Given the description of an element on the screen output the (x, y) to click on. 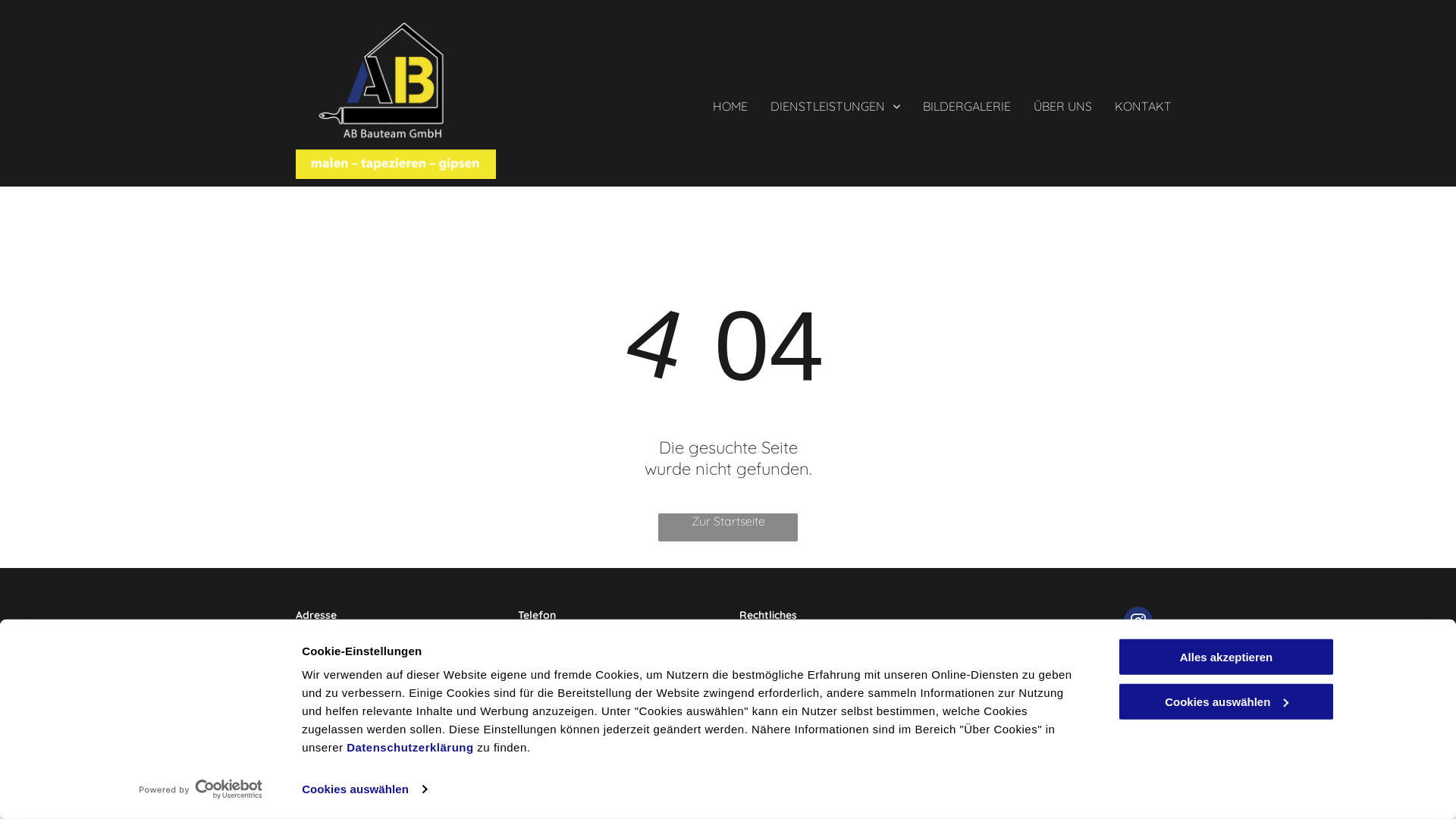
Zur Startseite Element type: text (727, 527)
Impressum Element type: text (766, 632)
BILDERGALERIE Element type: text (966, 102)
info@ab-bauteam.ch Element type: text (567, 682)
+41 76 331 13 42 Element type: text (553, 632)
HOME Element type: text (729, 102)
DIENSTLEISTUNGEN Element type: text (835, 102)
KONTAKT Element type: text (1142, 102)
Alles akzeptieren Element type: text (1225, 656)
